Given the description of an element on the screen output the (x, y) to click on. 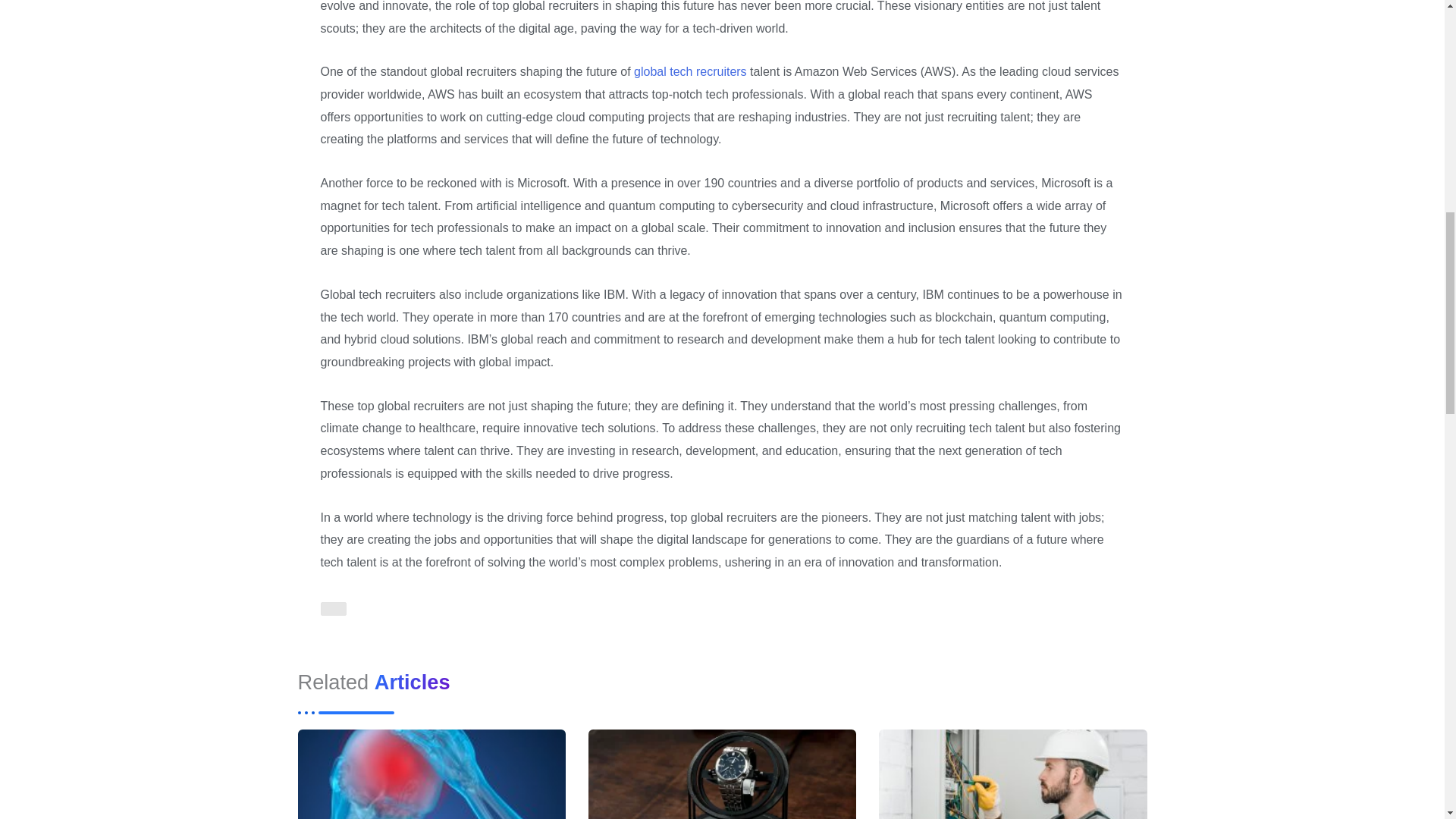
global tech recruiters (689, 71)
